Given the description of an element on the screen output the (x, y) to click on. 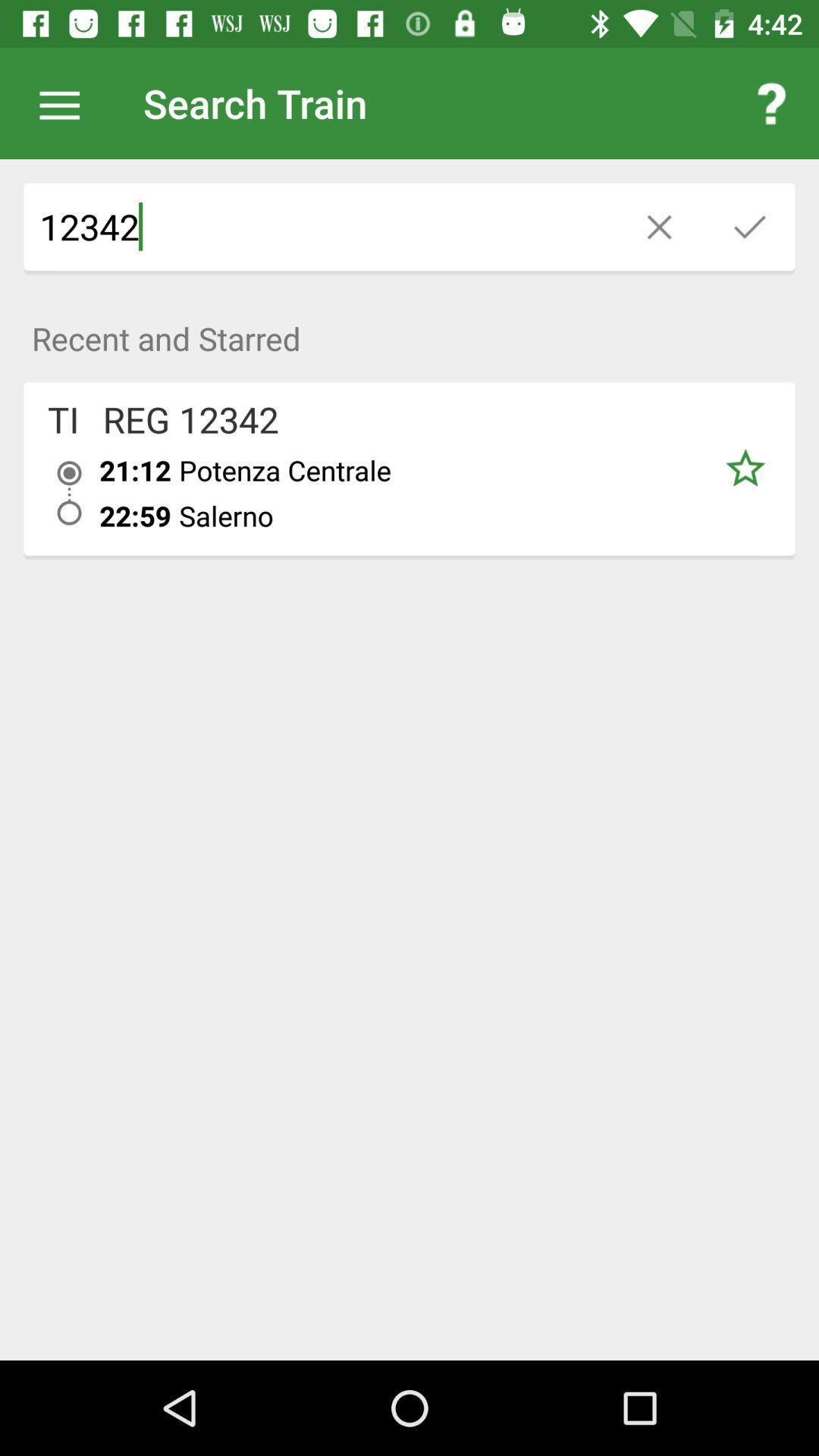
press item above 22:59 item (135, 470)
